Given the description of an element on the screen output the (x, y) to click on. 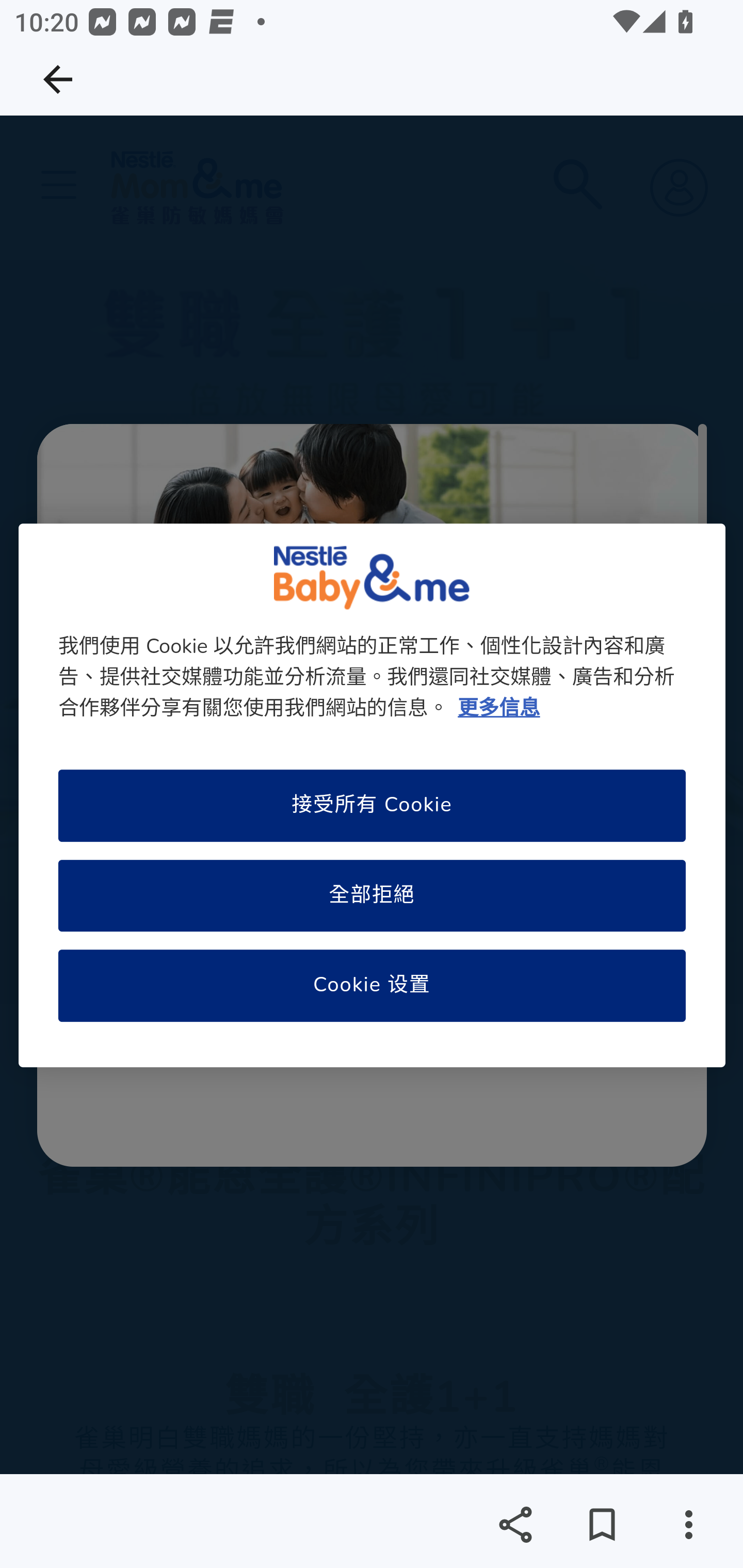
Navigate up (57, 79)
接受所有 Cookie (371, 805)
全部拒絕 (371, 895)
Cookie 设置 (371, 986)
Share (514, 1524)
Save for later (601, 1524)
More options (688, 1524)
